Given the description of an element on the screen output the (x, y) to click on. 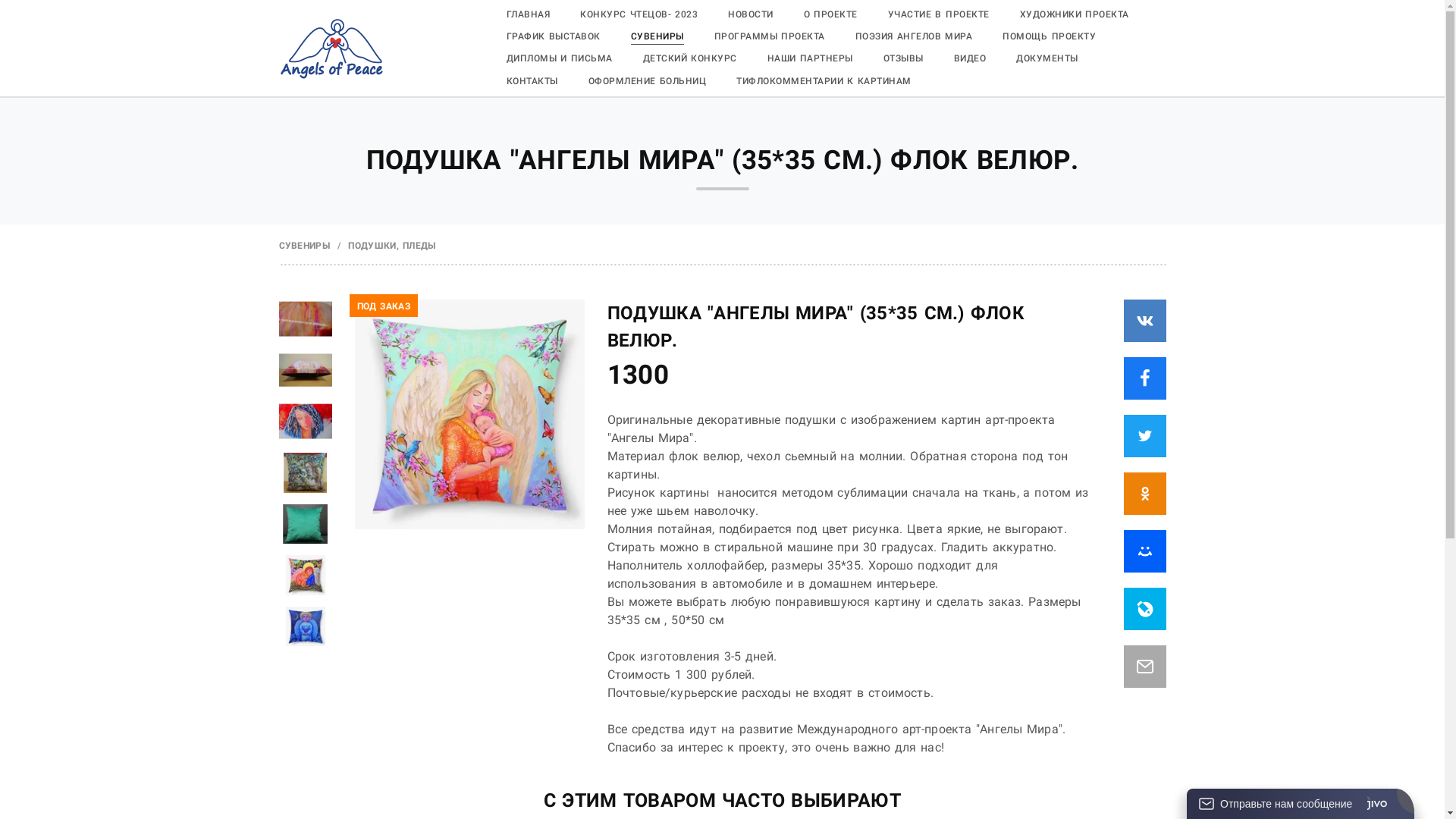
share_link_mymir Element type: hover (1144, 551)
share_link_vk Element type: hover (1144, 320)
share_link_odnoklassniki Element type: hover (1144, 493)
share_link_livejournal Element type: hover (1144, 608)
share_link_twitter Element type: hover (1144, 435)
share_link_facebook Element type: hover (1144, 378)
